Given the description of an element on the screen output the (x, y) to click on. 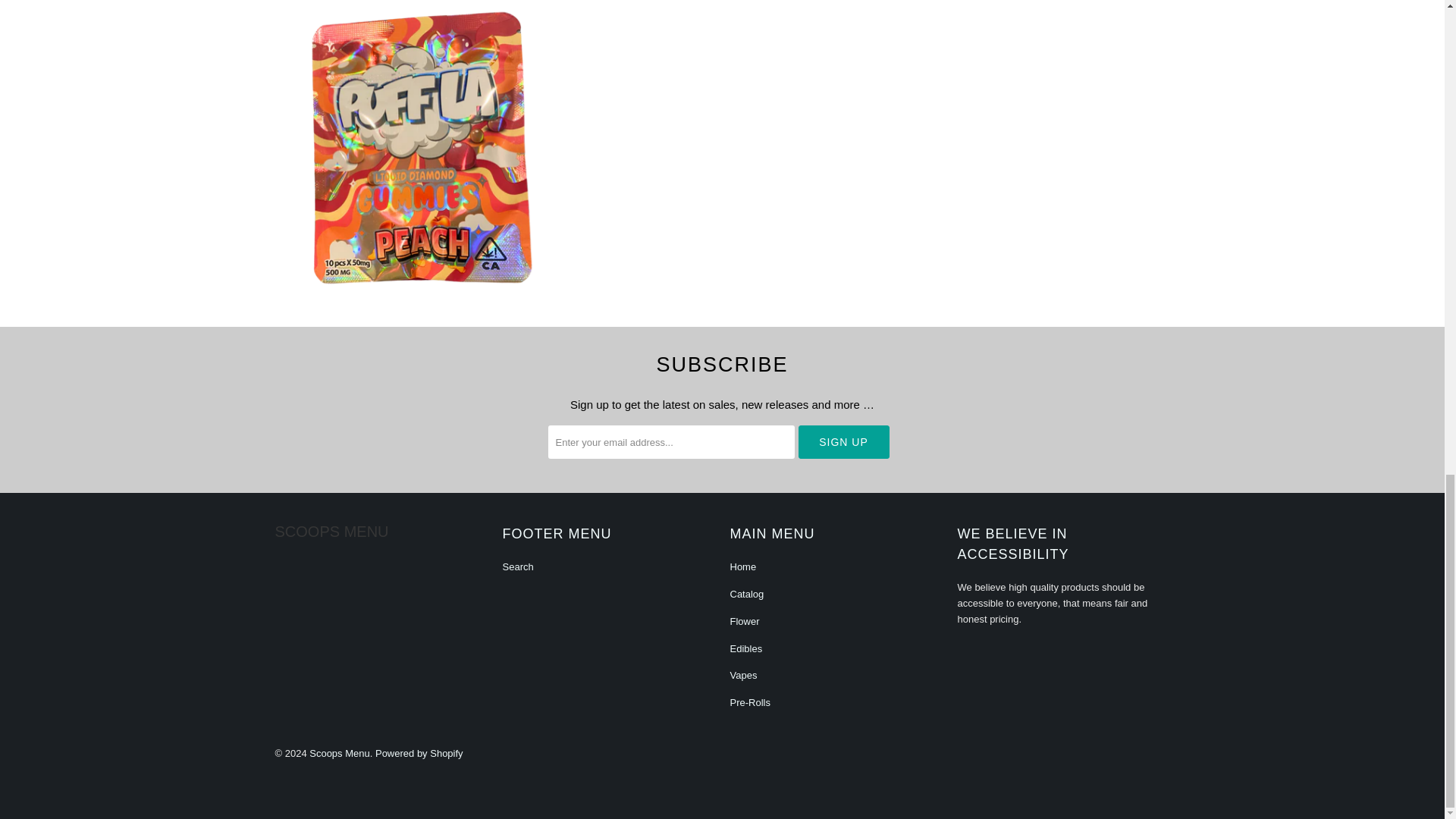
Sign Up (842, 441)
